Given the description of an element on the screen output the (x, y) to click on. 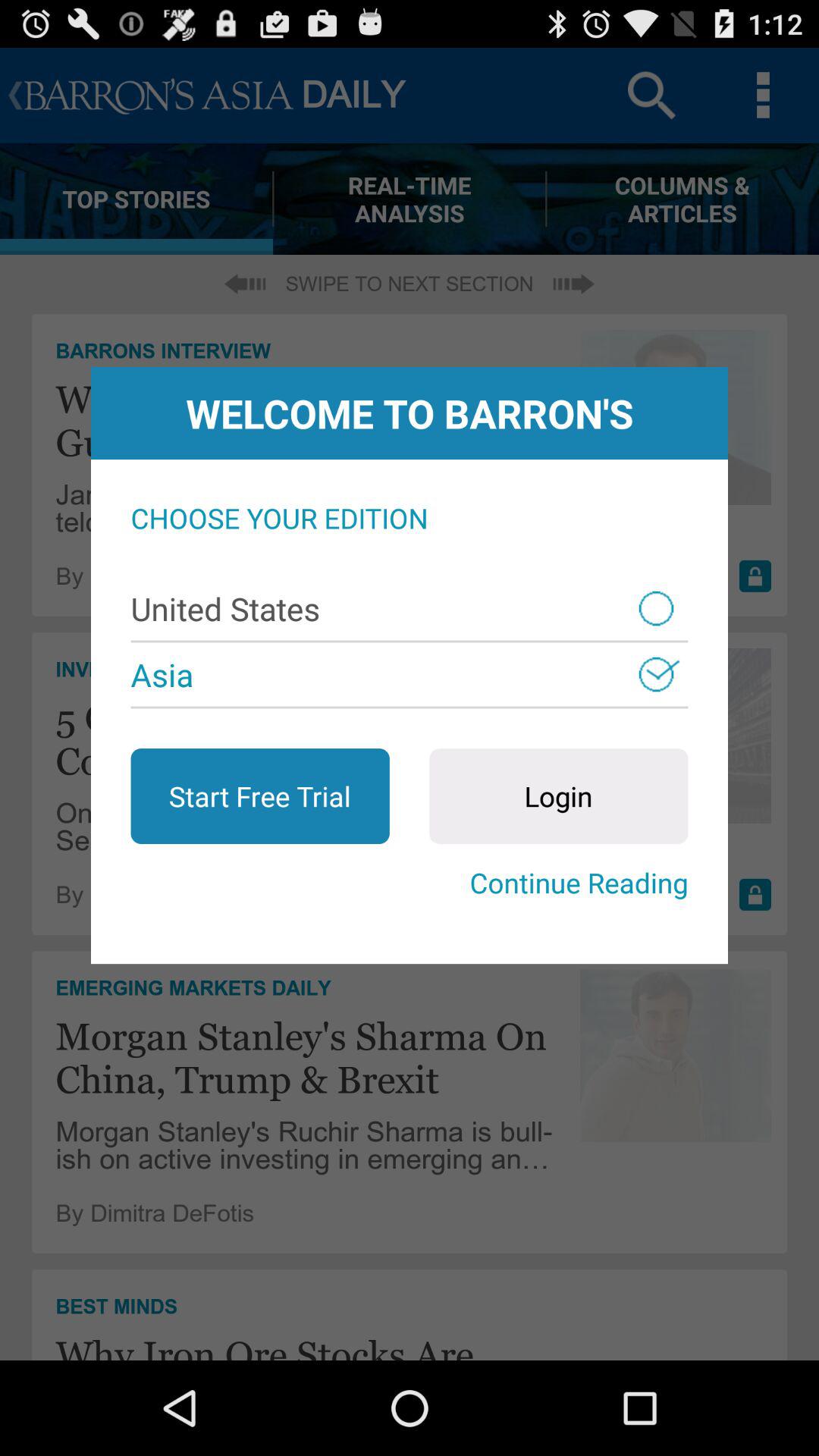
choose the united states icon (409, 608)
